Given the description of an element on the screen output the (x, y) to click on. 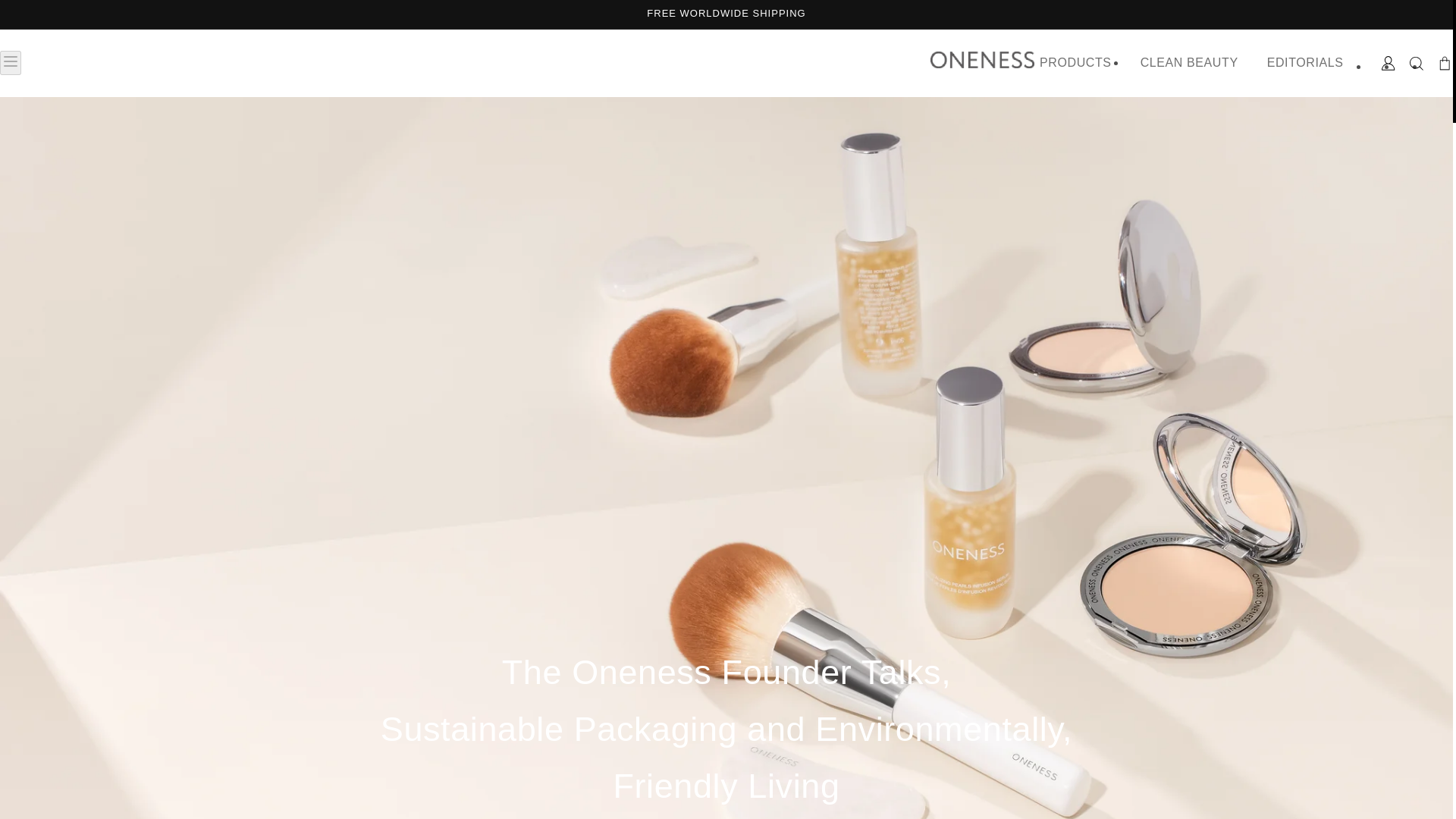
PRODUCTS (1074, 62)
EDITORIALS (1305, 62)
Skip to content (45, 17)
CLEAN BEAUTY (1189, 62)
